Given the description of an element on the screen output the (x, y) to click on. 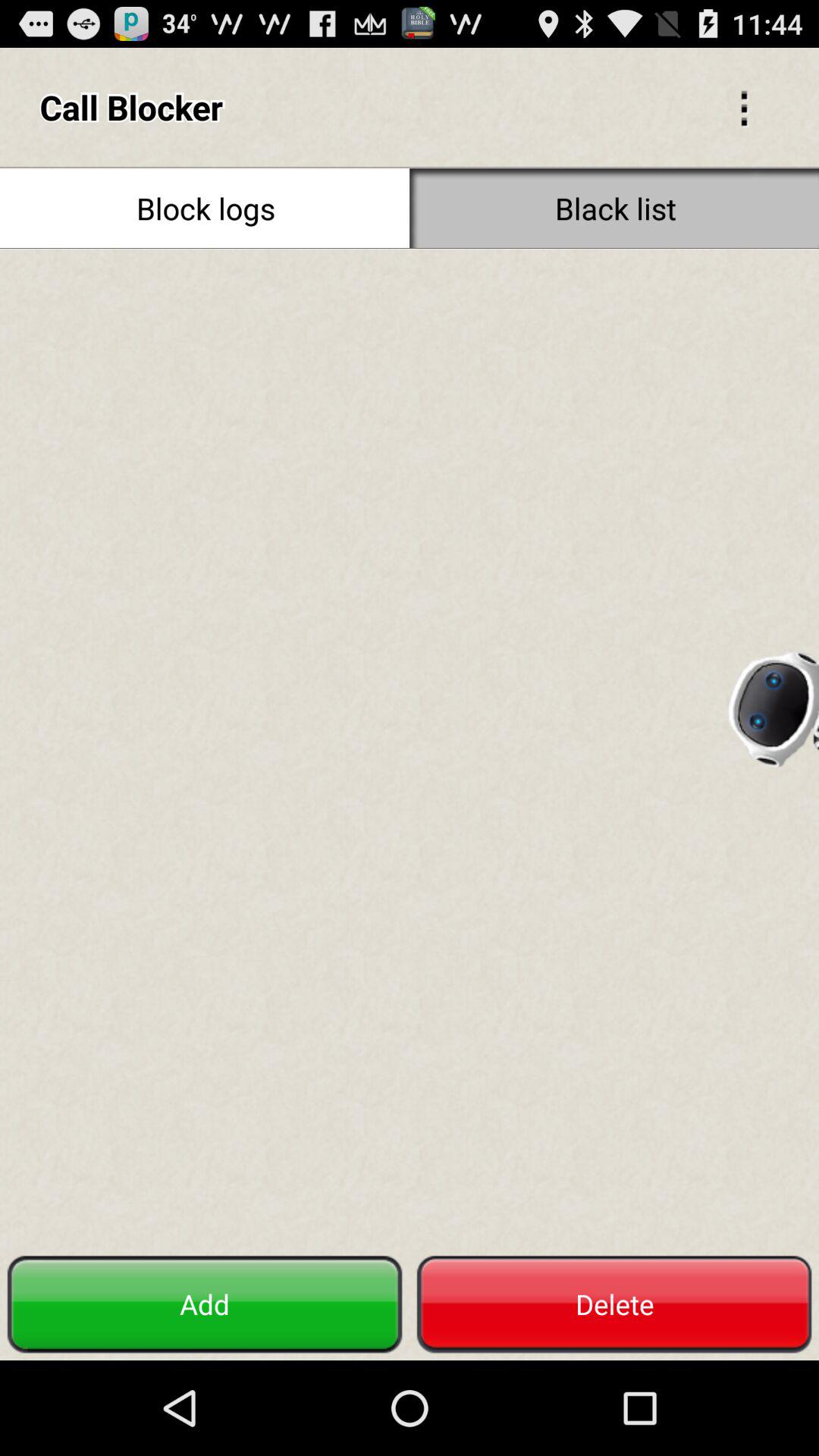
open block logs (204, 207)
